Given the description of an element on the screen output the (x, y) to click on. 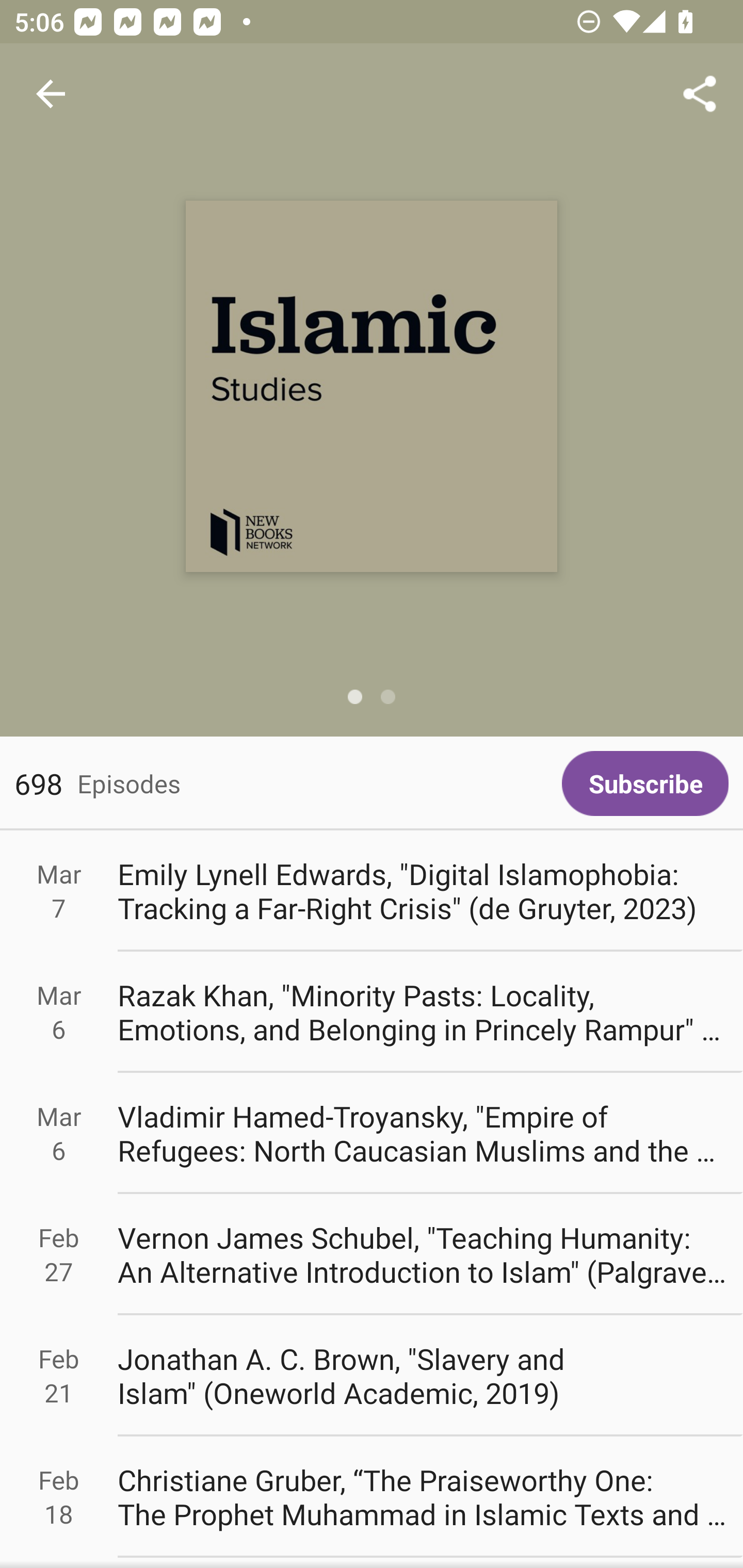
Navigate up (50, 93)
Share... (699, 93)
Subscribe (644, 783)
